Given the description of an element on the screen output the (x, y) to click on. 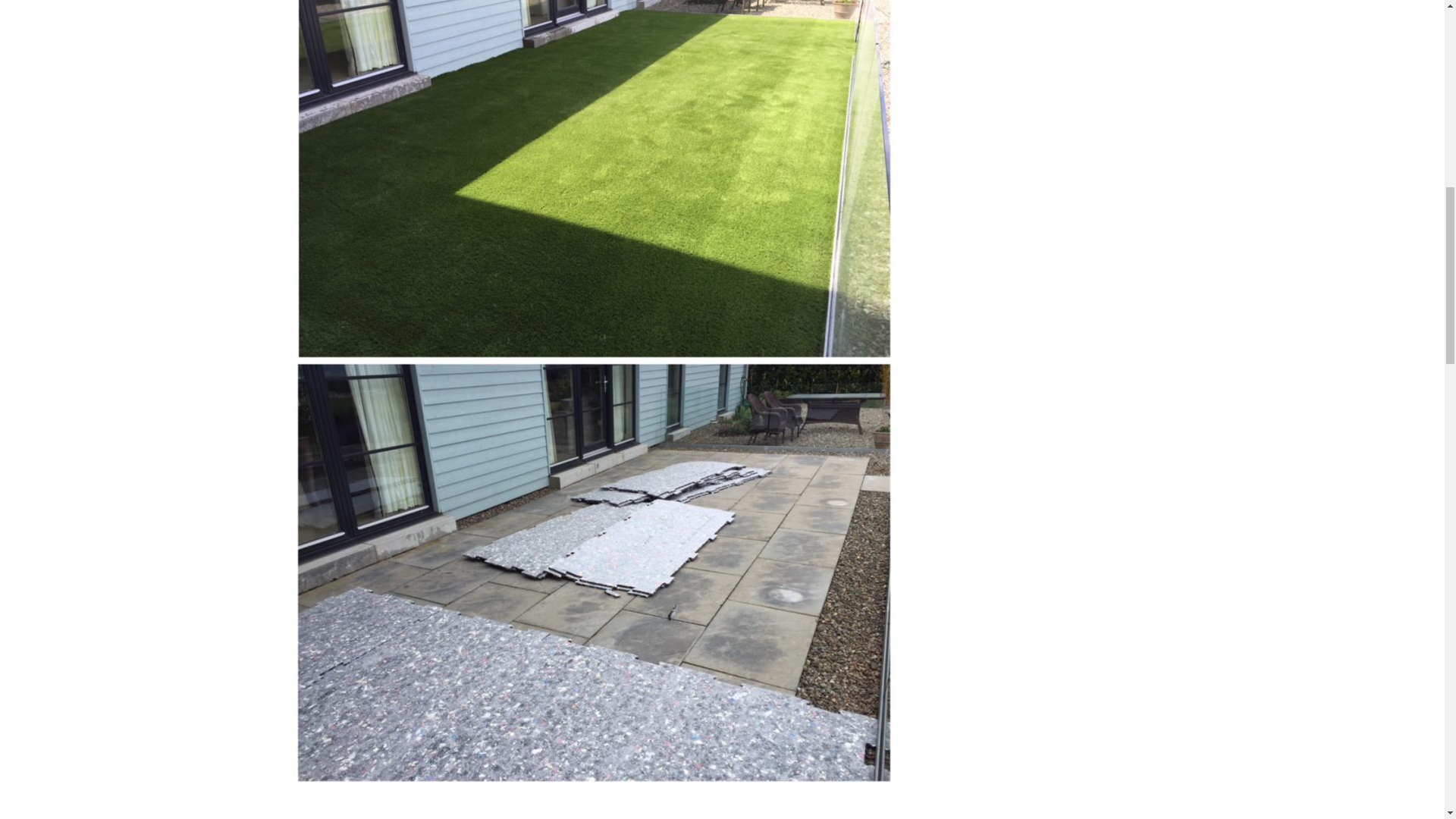
Back to top (1413, 30)
